Given the description of an element on the screen output the (x, y) to click on. 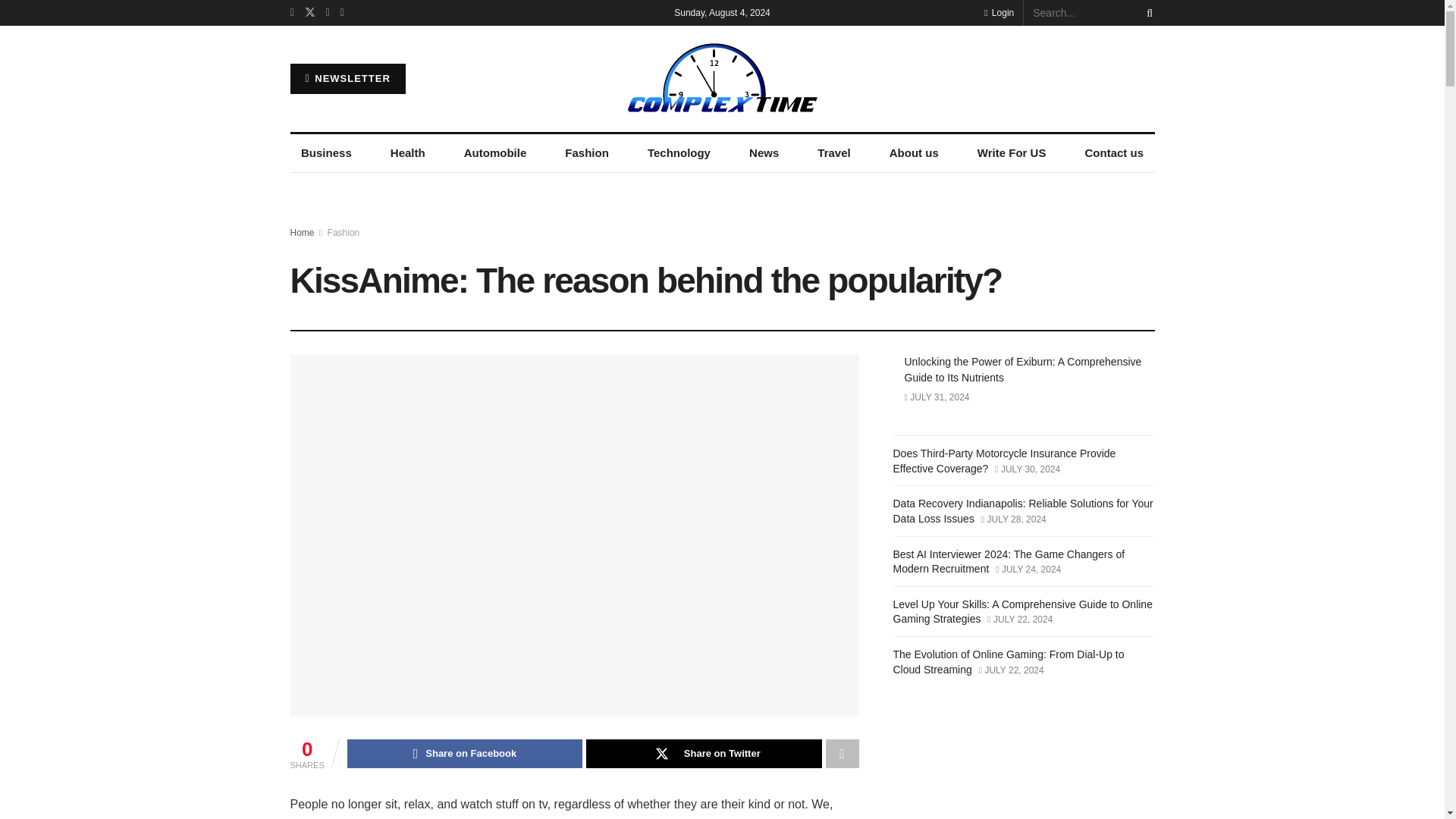
Contact us (1114, 152)
Write For US (1011, 152)
Travel (833, 152)
Health (406, 152)
Login (998, 12)
Fashion (587, 152)
Fashion (343, 232)
Business (325, 152)
News (764, 152)
NEWSLETTER (346, 78)
Automobile (494, 152)
Share on Facebook (464, 753)
Home (301, 232)
About us (913, 152)
Technology (678, 152)
